Given the description of an element on the screen output the (x, y) to click on. 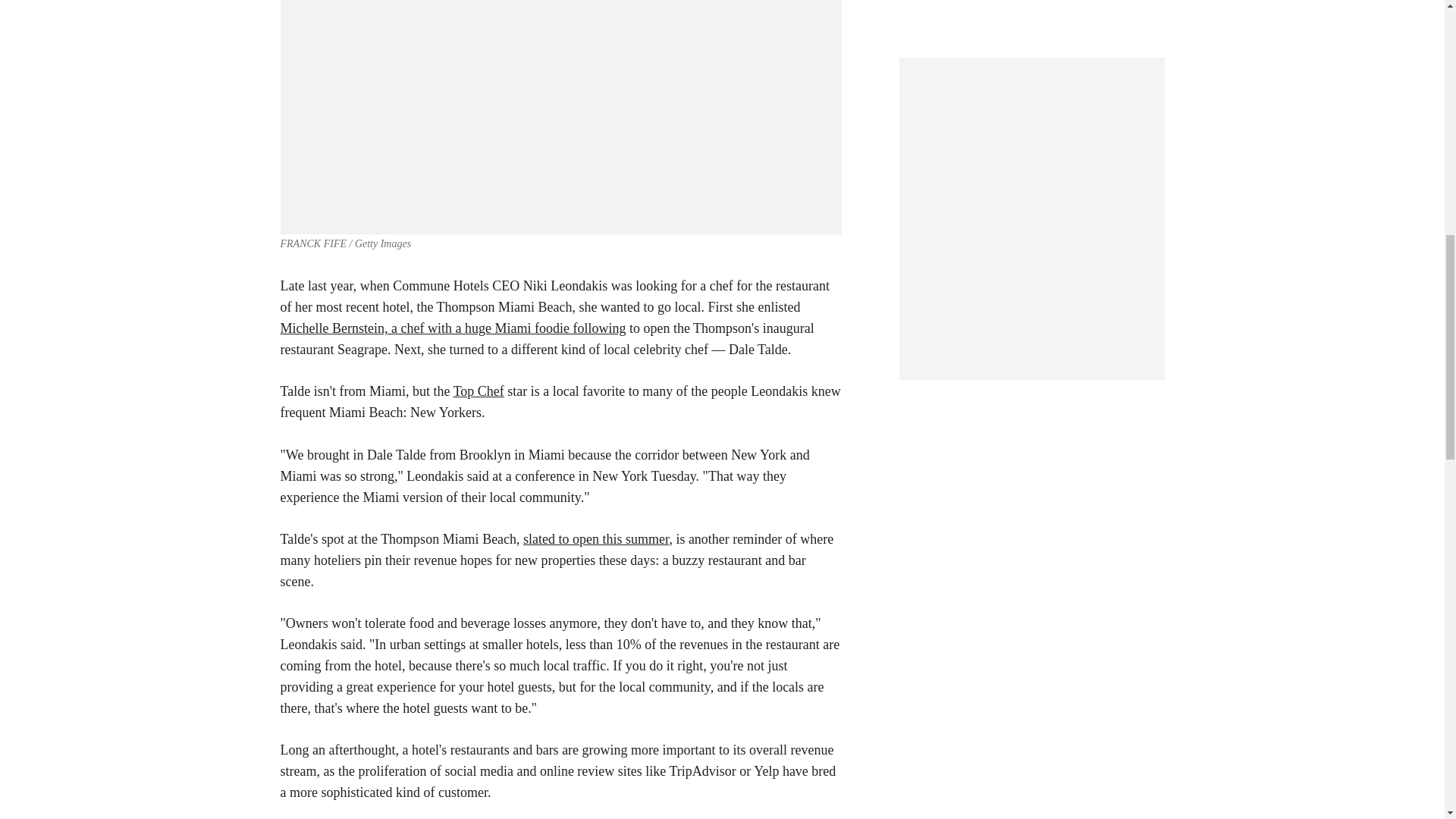
Top Chef (477, 391)
slated to open this summer (595, 539)
